Given the description of an element on the screen output the (x, y) to click on. 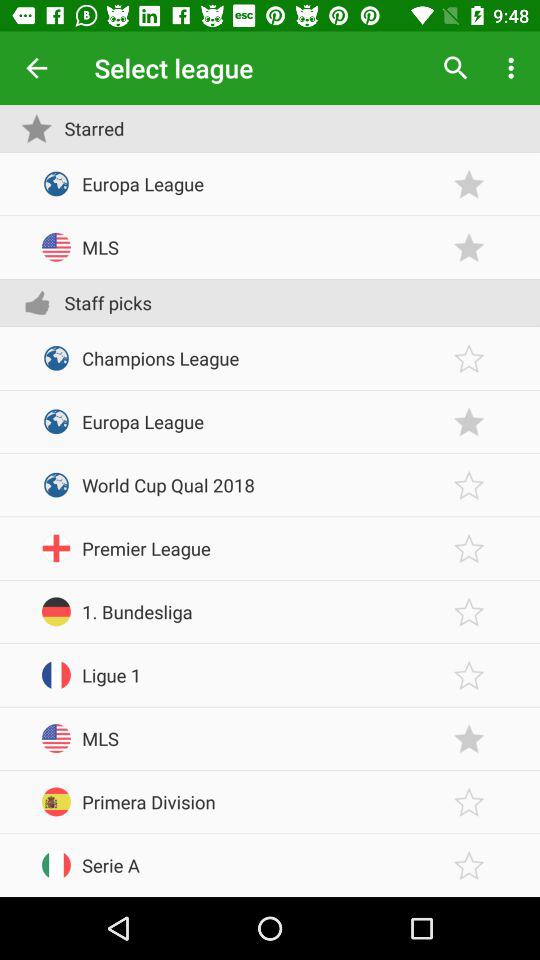
unfavorite (469, 421)
